Given the description of an element on the screen output the (x, y) to click on. 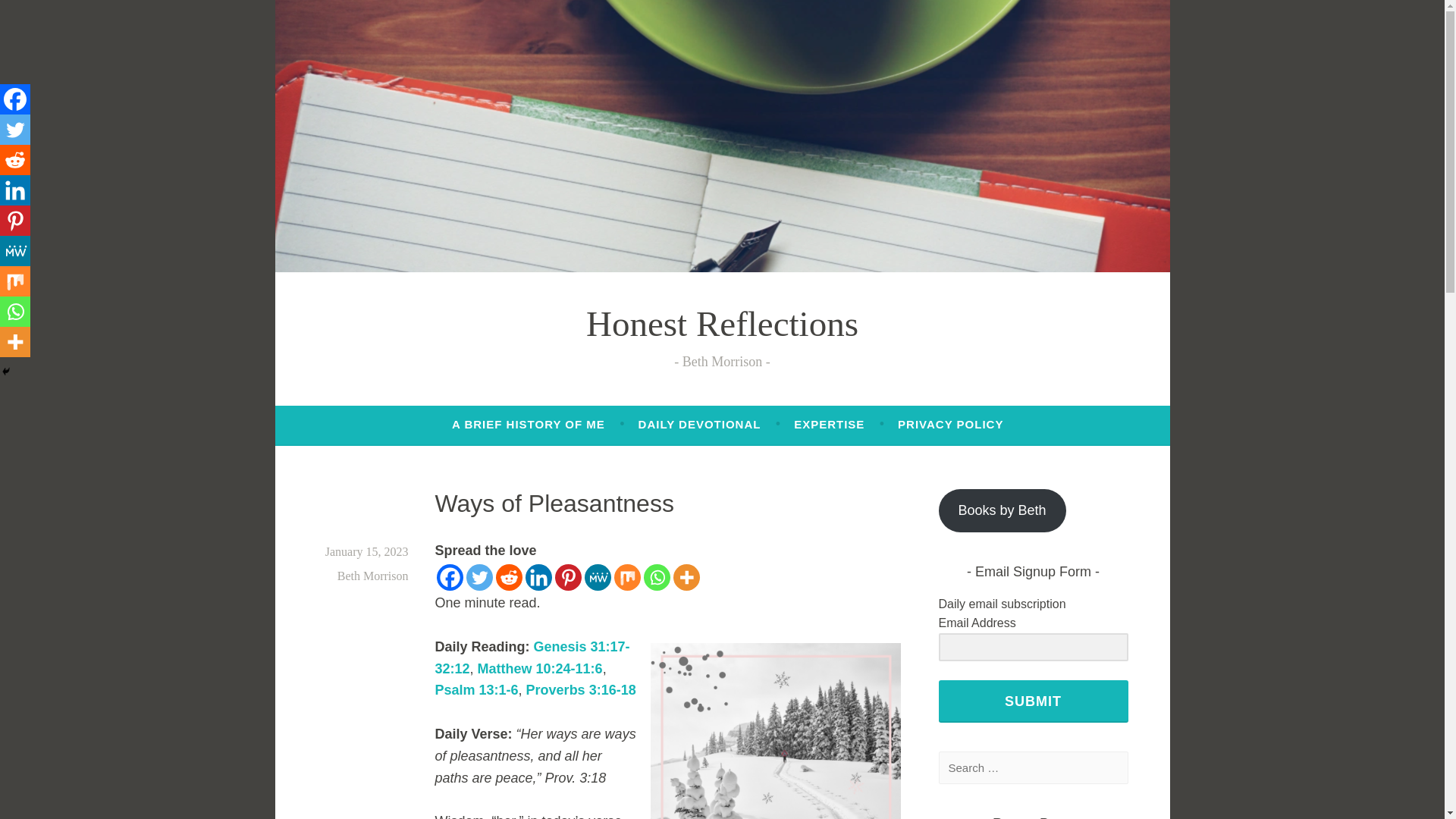
January 15, 2023 (366, 551)
Reddit (15, 159)
Facebook (449, 577)
Search (37, 15)
MeWe (596, 577)
Honest Reflections (722, 323)
Proverbs 3:16-18 (580, 689)
Beth Morrison (373, 575)
Reddit (509, 577)
Books by Beth (1002, 510)
